Given the description of an element on the screen output the (x, y) to click on. 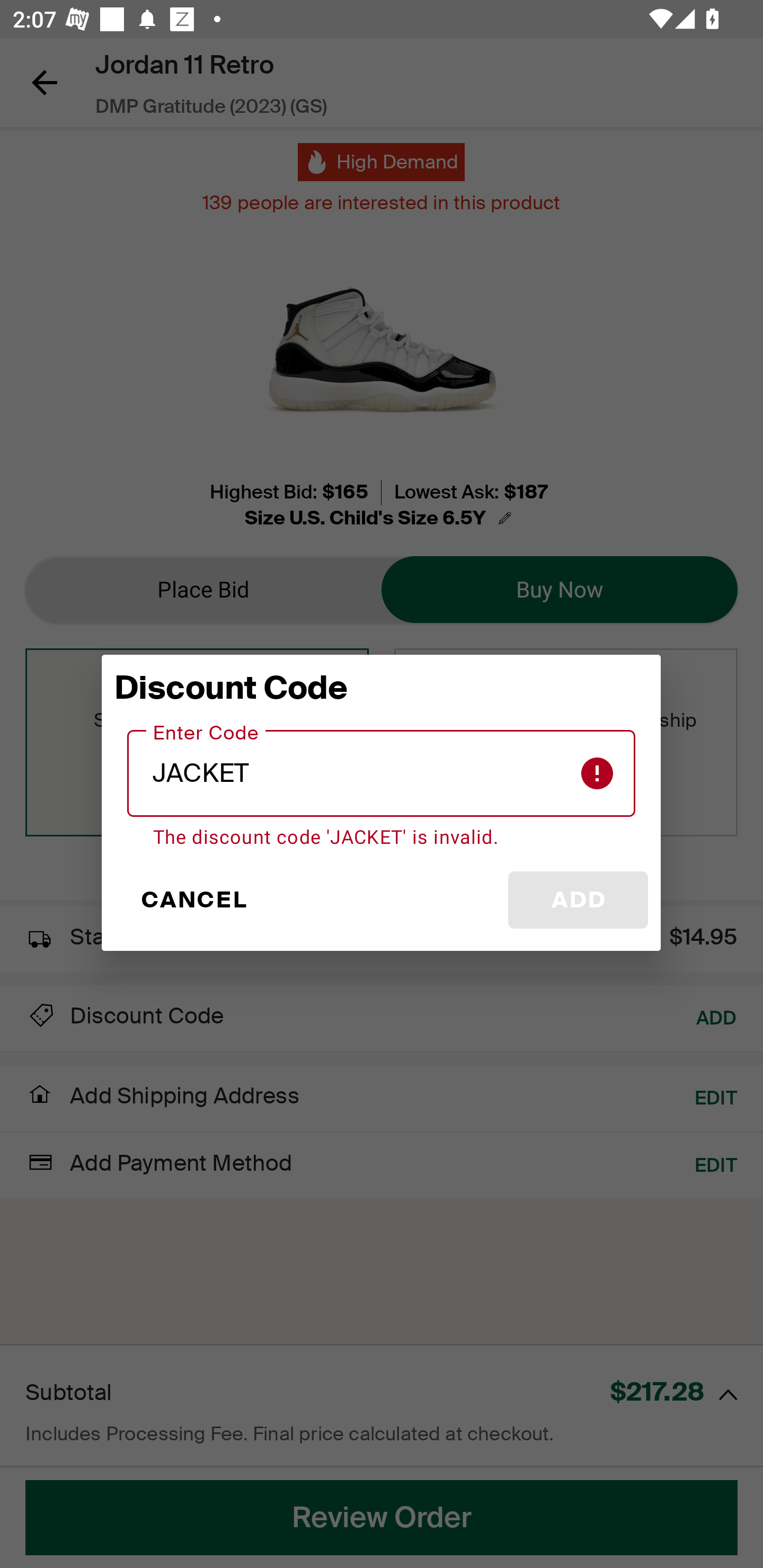
JACKET (381, 773)
CANCEL (193, 899)
ADD (577, 899)
